Given the description of an element on the screen output the (x, y) to click on. 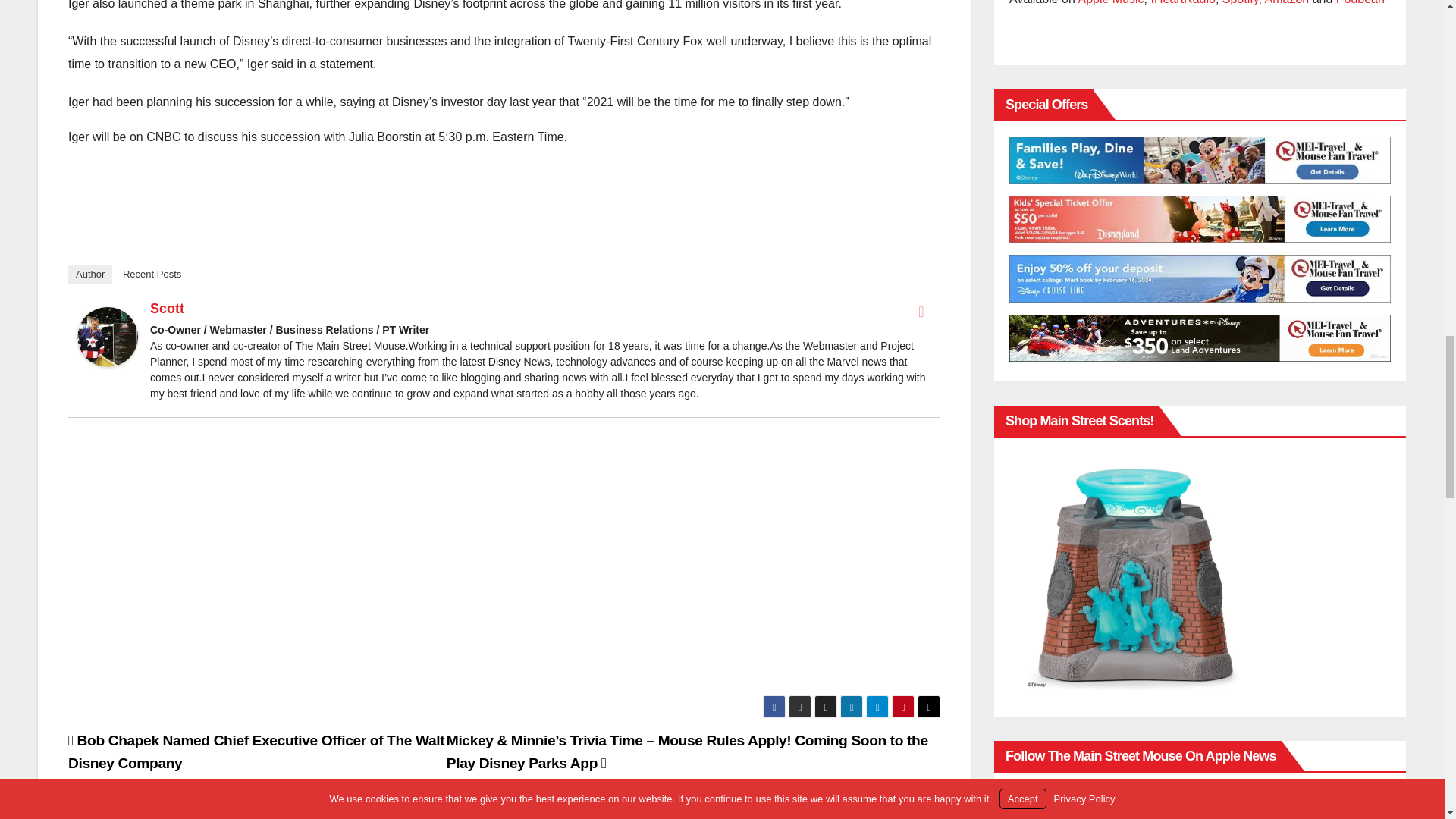
Author (90, 274)
Recent Posts (152, 274)
